Given the description of an element on the screen output the (x, y) to click on. 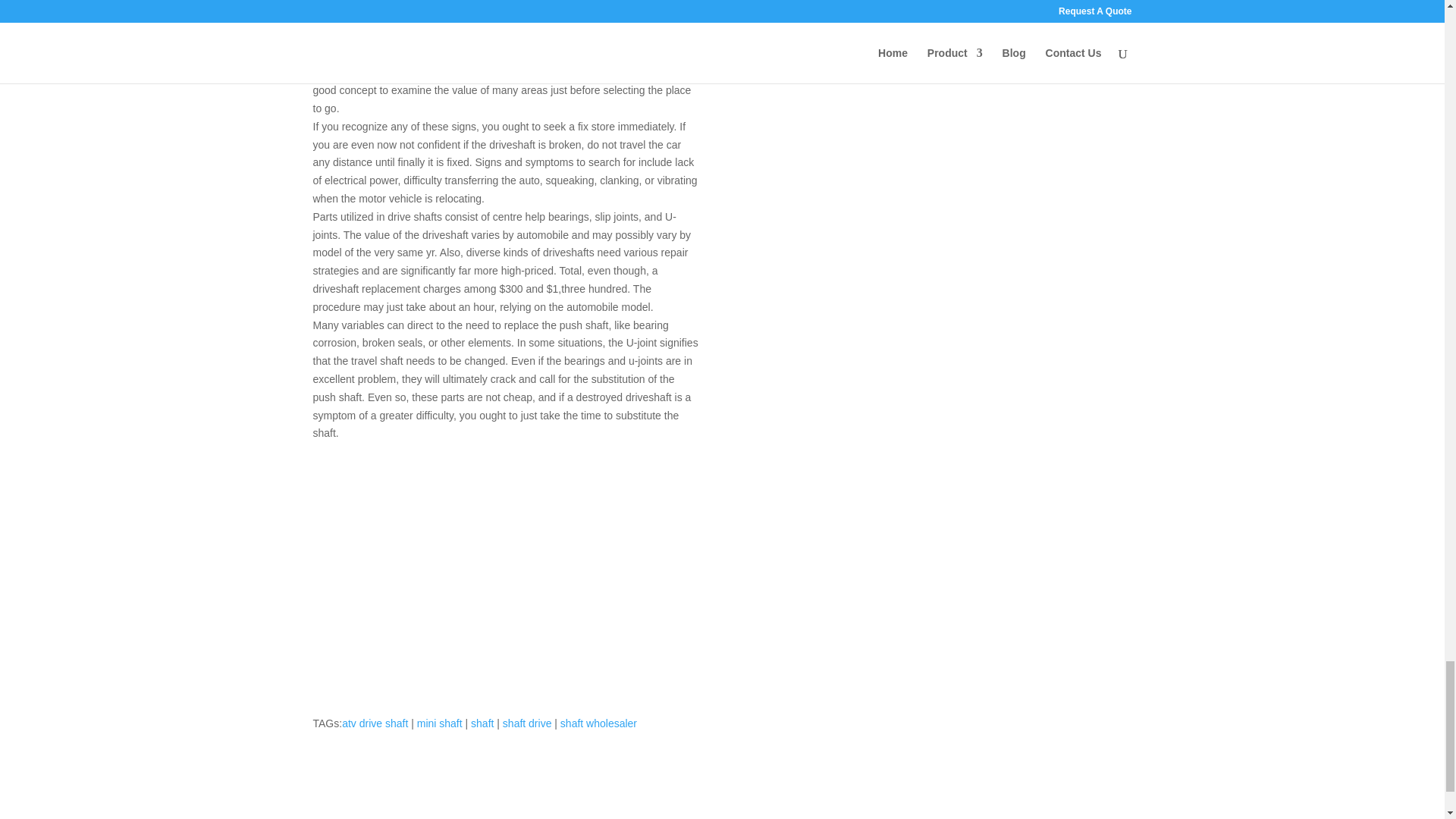
mini shaft (439, 723)
shaft (481, 723)
atv drive shaft (374, 723)
shaft drive (526, 723)
shaft wholesaler (598, 723)
